Given the description of an element on the screen output the (x, y) to click on. 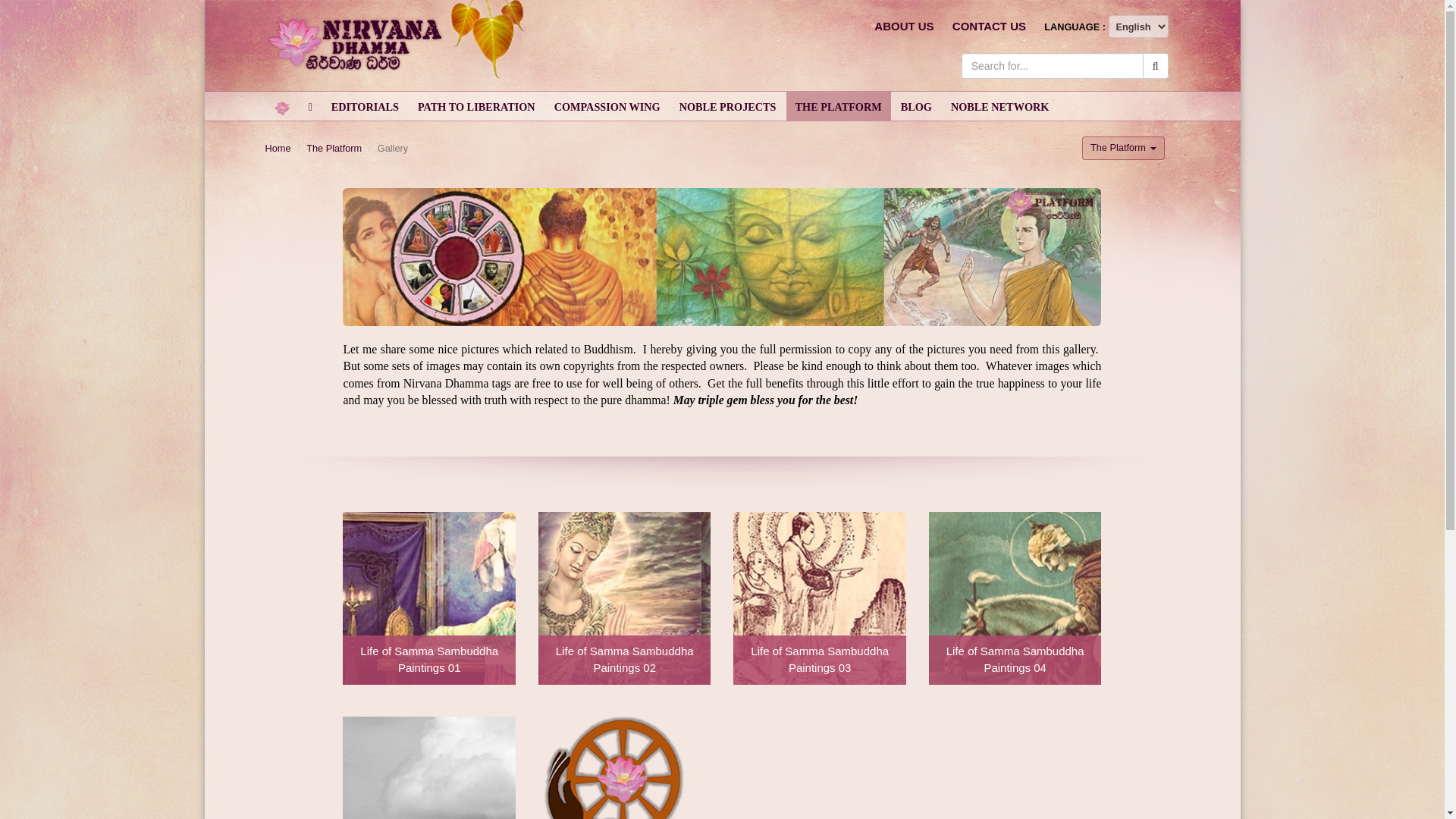
Life of Samma Sambuddha Paintings 04 (1014, 597)
Life of Samma Sambuddha Paintings 02 (624, 597)
Life of Samma Sambuddha Paintings 01 (428, 597)
PATH TO LIBERATION (476, 105)
Ahanna Dhamma Program (624, 767)
EDITORIALS (364, 105)
Solid Peace (428, 767)
Life of Samma Sambuddha Paintings 03 (819, 597)
